Given the description of an element on the screen output the (x, y) to click on. 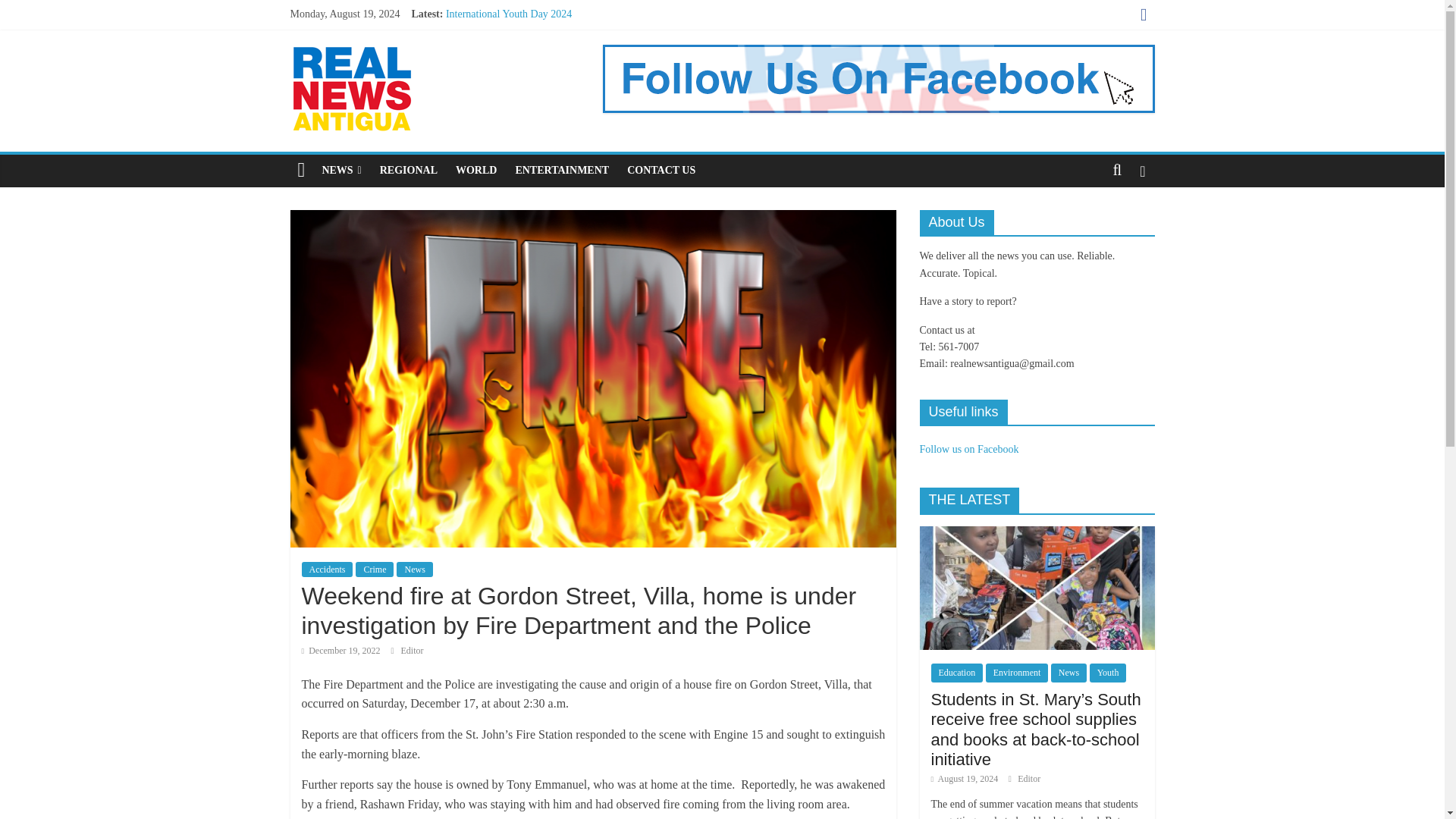
Editor (411, 650)
December 19, 2022 (340, 650)
Editor (411, 650)
WORLD (475, 170)
Crime (374, 569)
NEWS (341, 170)
News (414, 569)
CONTACT US (660, 170)
Accidents (327, 569)
